Given the description of an element on the screen output the (x, y) to click on. 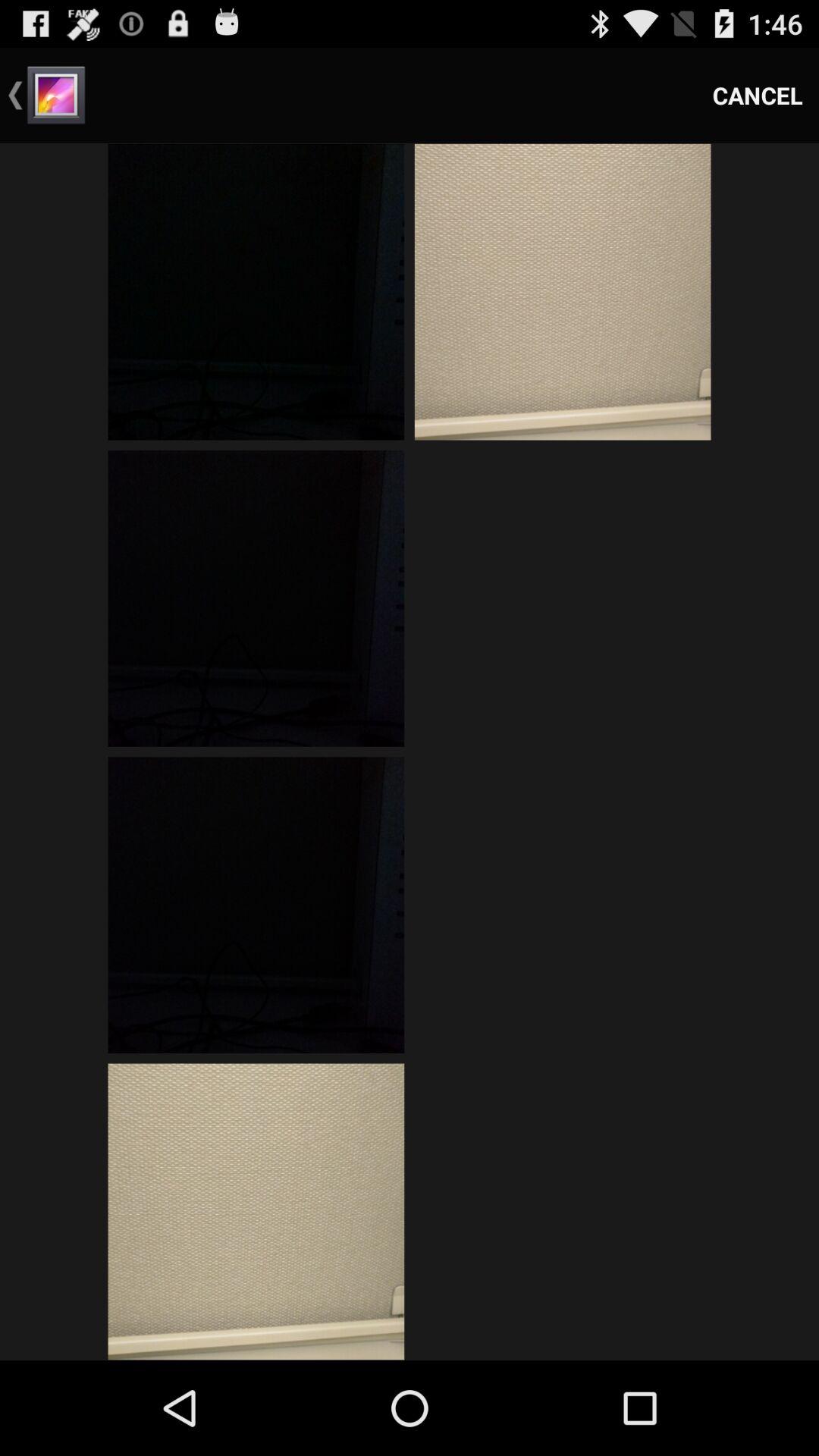
press icon at the top right corner (757, 95)
